Given the description of an element on the screen output the (x, y) to click on. 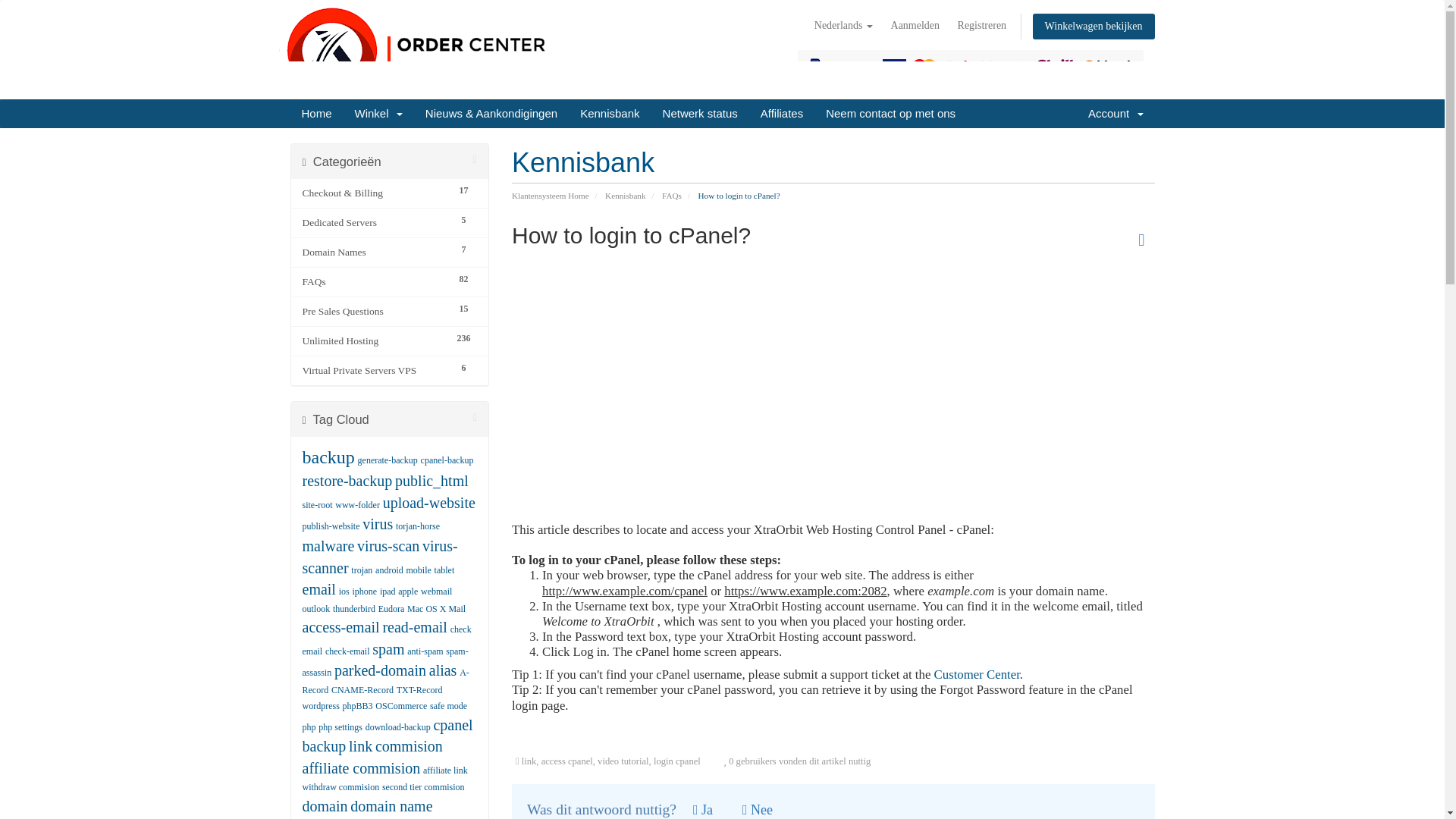
Nederlands (843, 25)
Pre Sales Questions (375, 311)
Domain Names (375, 252)
Unlimited Hosting (375, 341)
Winkel   (378, 113)
Dedicated Servers (375, 222)
Winkelwagen bekijken (1093, 26)
Virtual Private Servers VPS (375, 370)
Aanmelden (915, 25)
FAQs (375, 281)
Registreren (982, 25)
Home (315, 113)
